Given the description of an element on the screen output the (x, y) to click on. 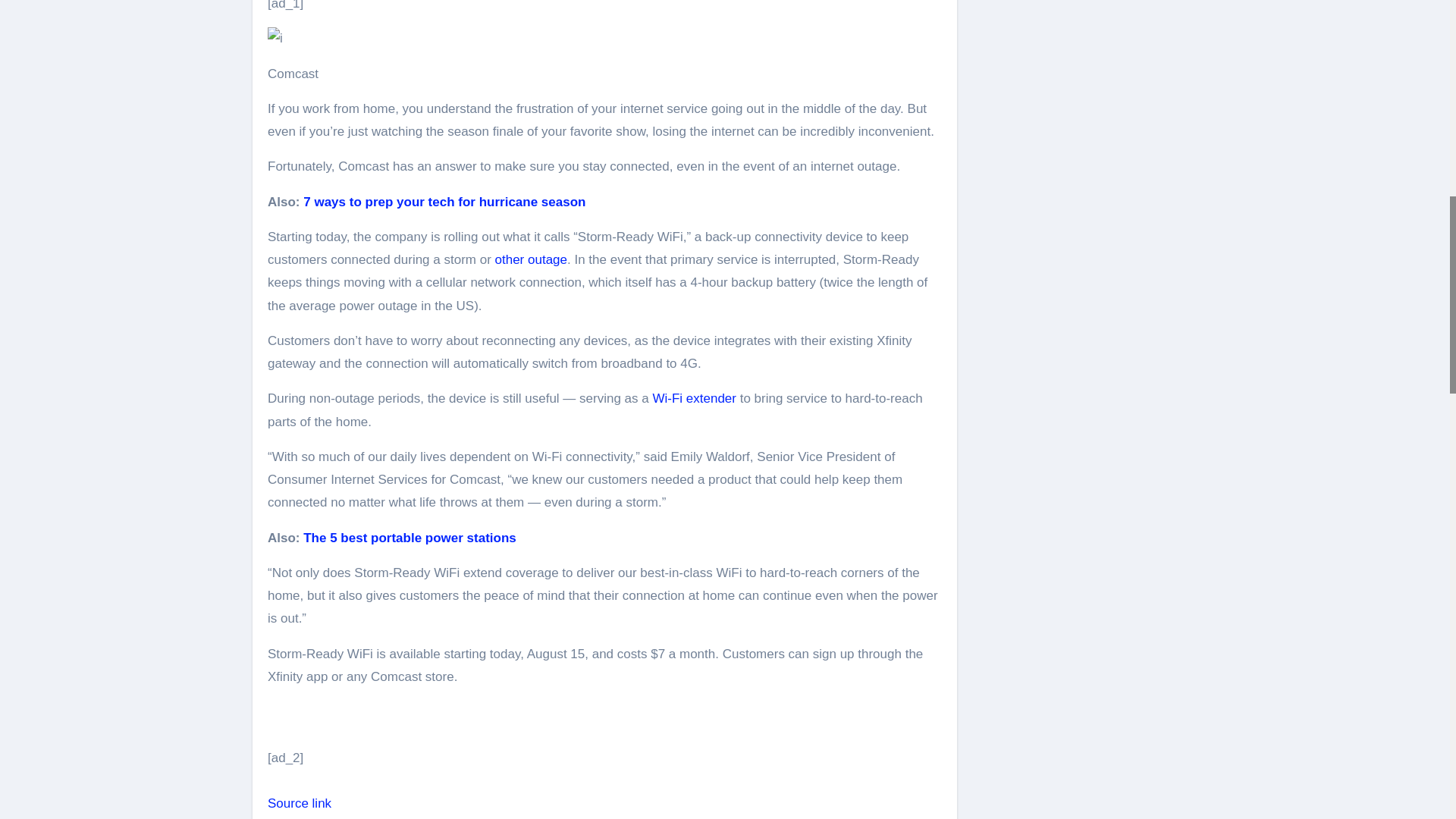
The 5 best portable power stations (409, 537)
Source link (299, 803)
Wi-Fi extender (694, 398)
other outage (531, 259)
7 ways to prep your tech for hurricane season (443, 201)
